Given the description of an element on the screen output the (x, y) to click on. 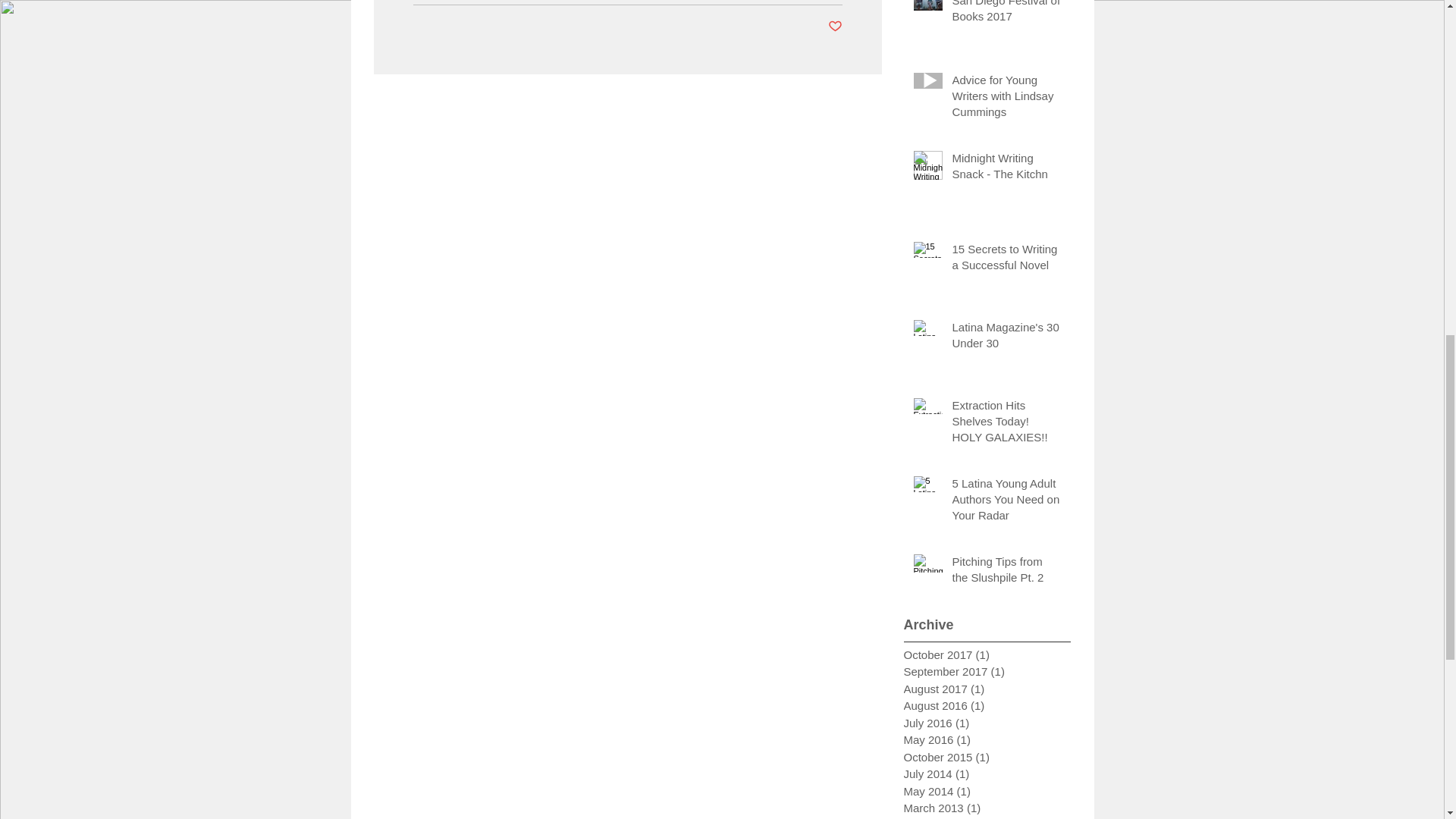
15 Secrets to Writing a Successful Novel (1006, 259)
Midnight Writing Snack - The Kitchn (1006, 168)
5 Latina Young Adult Authors You Need on Your Radar (1006, 501)
San Diego Festival of Books 2017 (1006, 15)
Pitching Tips from the Slushpile Pt. 2 (1006, 572)
Latina Magazine's 30 Under 30 (1006, 337)
Post not marked as liked (835, 26)
Advice for Young Writers with Lindsay Cummings (1006, 98)
Extraction Hits Shelves Today! HOLY GALAXIES!! (1006, 424)
